Given the description of an element on the screen output the (x, y) to click on. 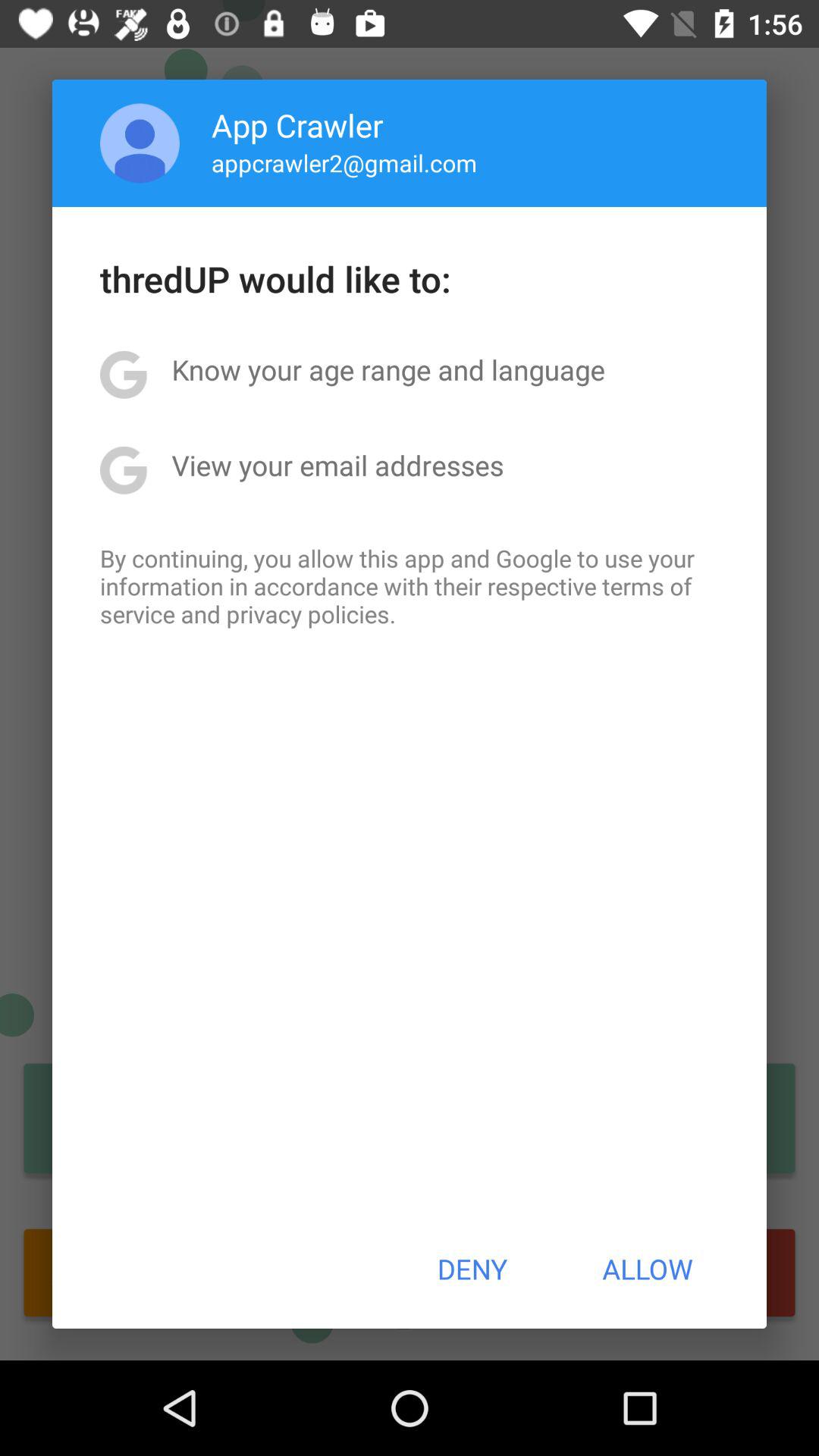
swipe to know your age (388, 369)
